Given the description of an element on the screen output the (x, y) to click on. 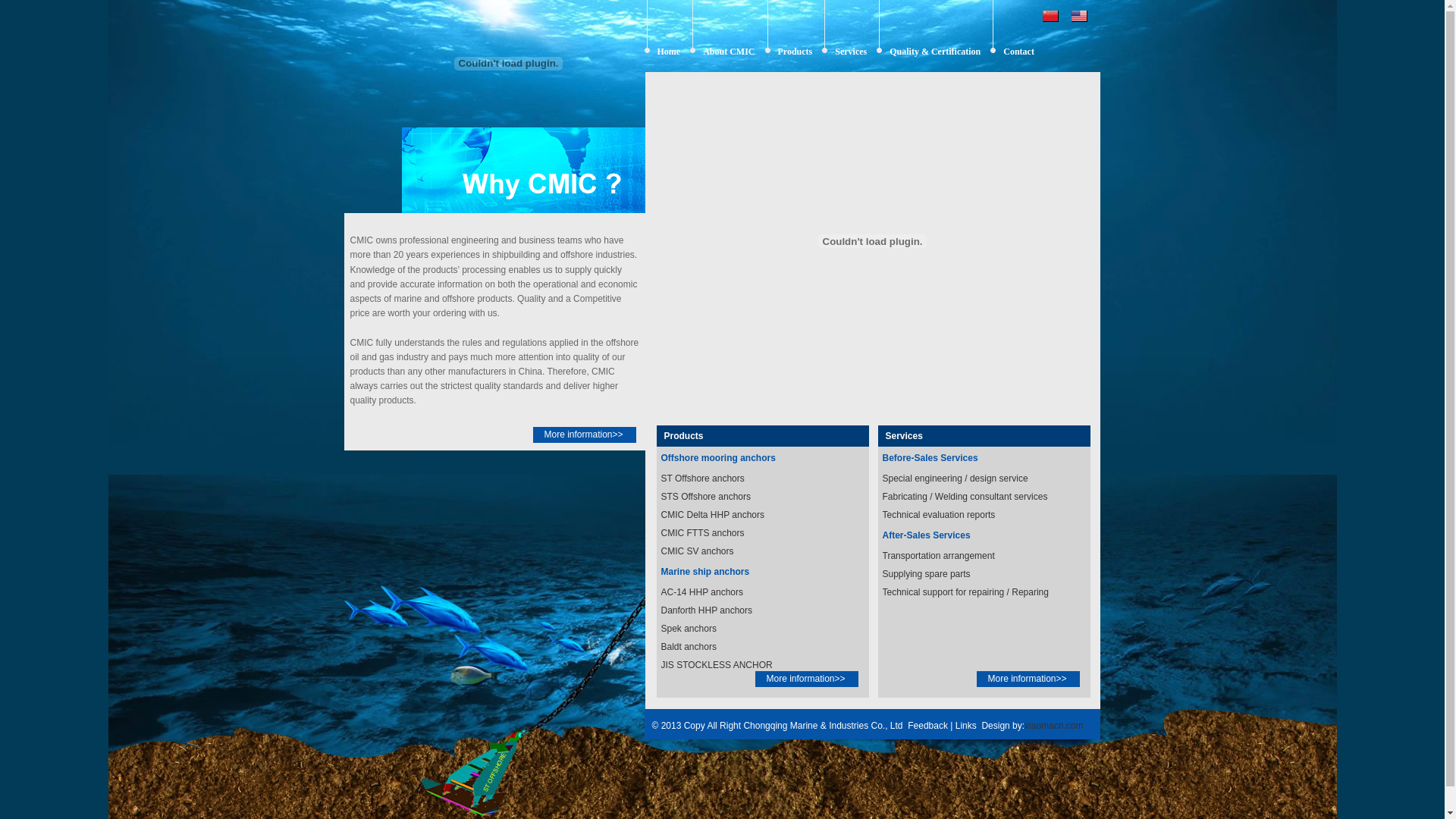
Offshore mooring anchors Element type: text (718, 457)
STS Offshore anchors Element type: text (706, 496)
Special engineering / design service Element type: text (955, 478)
About CMIC Element type: text (728, 51)
xiaomacn.com Element type: text (1053, 725)
Contact Element type: text (1018, 51)
Technical evaluation reports Element type: text (938, 514)
Spek anchors Element type: text (688, 628)
Marine ship anchors Element type: text (705, 571)
Fabricating / Welding consultant services Element type: text (965, 496)
Products Element type: text (679, 435)
Links Element type: text (965, 725)
After-Sales Services Element type: text (926, 535)
More information>> Element type: text (583, 434)
Products Element type: text (795, 51)
Danforth HHP anchors Element type: text (707, 610)
JIS STOCKLESS ANCHOR Element type: text (716, 664)
More information>> Element type: text (806, 679)
CMIC SV anchors Element type: text (697, 551)
Services Element type: text (900, 435)
ST Offshore anchors Element type: text (702, 478)
Home Element type: text (668, 51)
Feedback Element type: text (928, 725)
More information>> Element type: text (1027, 679)
Before-Sales Services Element type: text (930, 457)
Baldt anchors Element type: text (688, 646)
Transportation arrangement Element type: text (938, 555)
CMIC FTTS anchors Element type: text (702, 532)
AC-14 HHP anchors Element type: text (702, 591)
Services Element type: text (850, 51)
Quality & Certification Element type: text (934, 51)
Technical support for repairing / Reparing Element type: text (965, 591)
Supplying spare parts Element type: text (926, 573)
CMIC Delta HHP anchors Element type: text (713, 514)
